Given the description of an element on the screen output the (x, y) to click on. 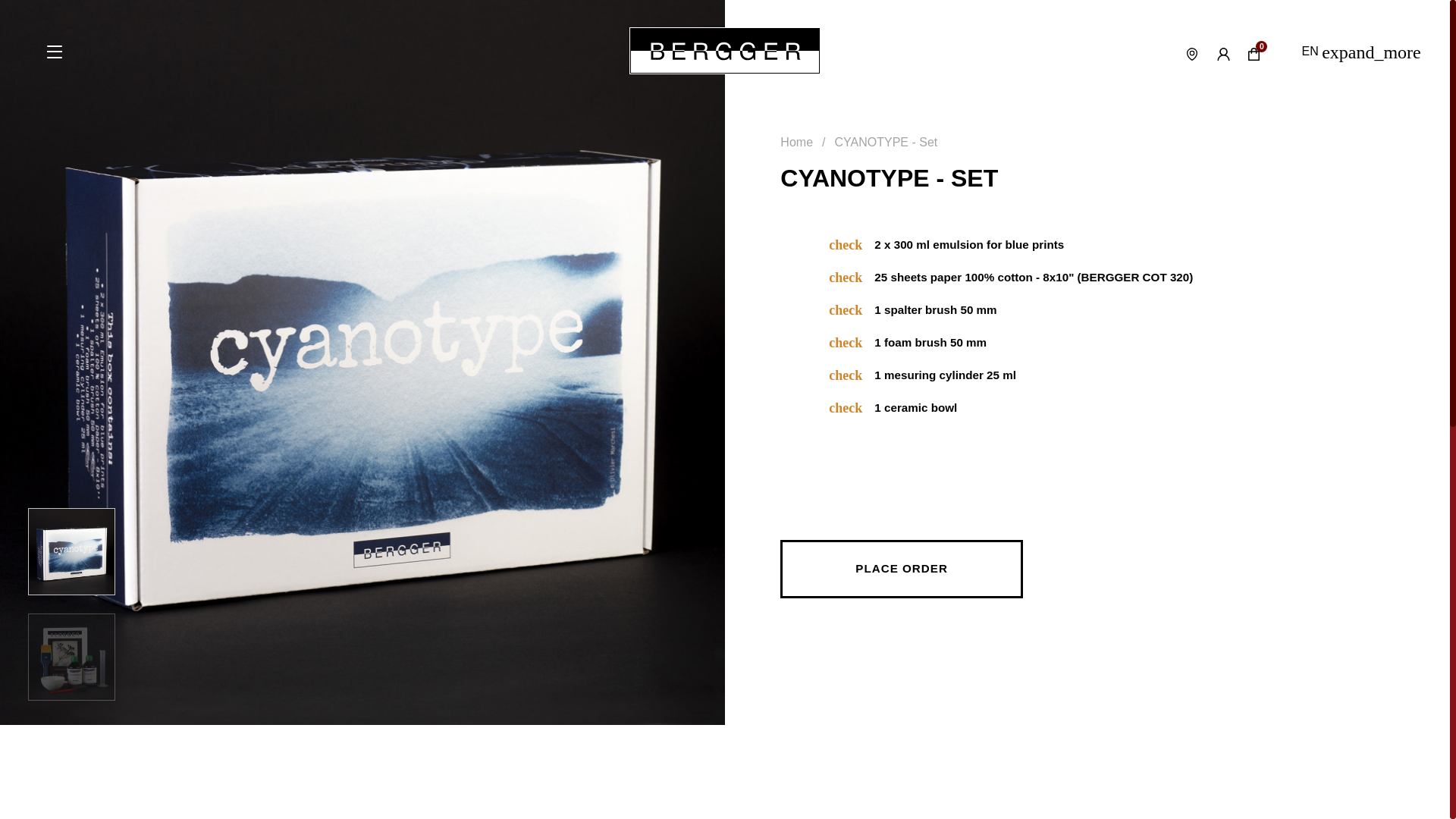
0 (1257, 53)
TECHNICAL DETAILS (828, 808)
Home (796, 141)
BERGGER (724, 50)
BERGGER (724, 50)
DESCRIPTION (592, 808)
Cyanotype set - BERGGER (72, 657)
Menu (54, 50)
Cyanotype set - BERGGER (72, 551)
PLACE ORDER (901, 568)
